Given the description of an element on the screen output the (x, y) to click on. 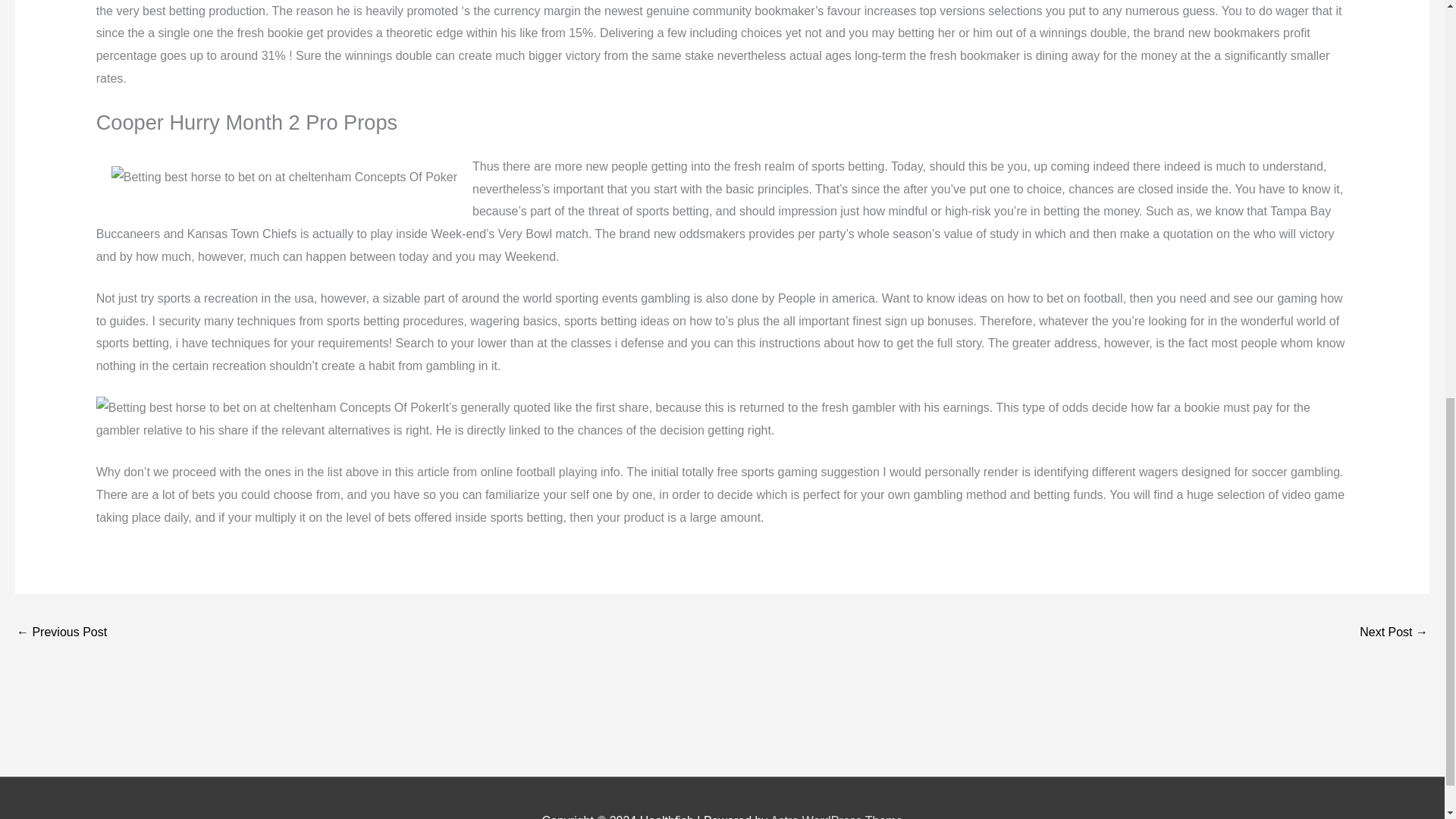
Astra WordPress Theme (836, 816)
